Given the description of an element on the screen output the (x, y) to click on. 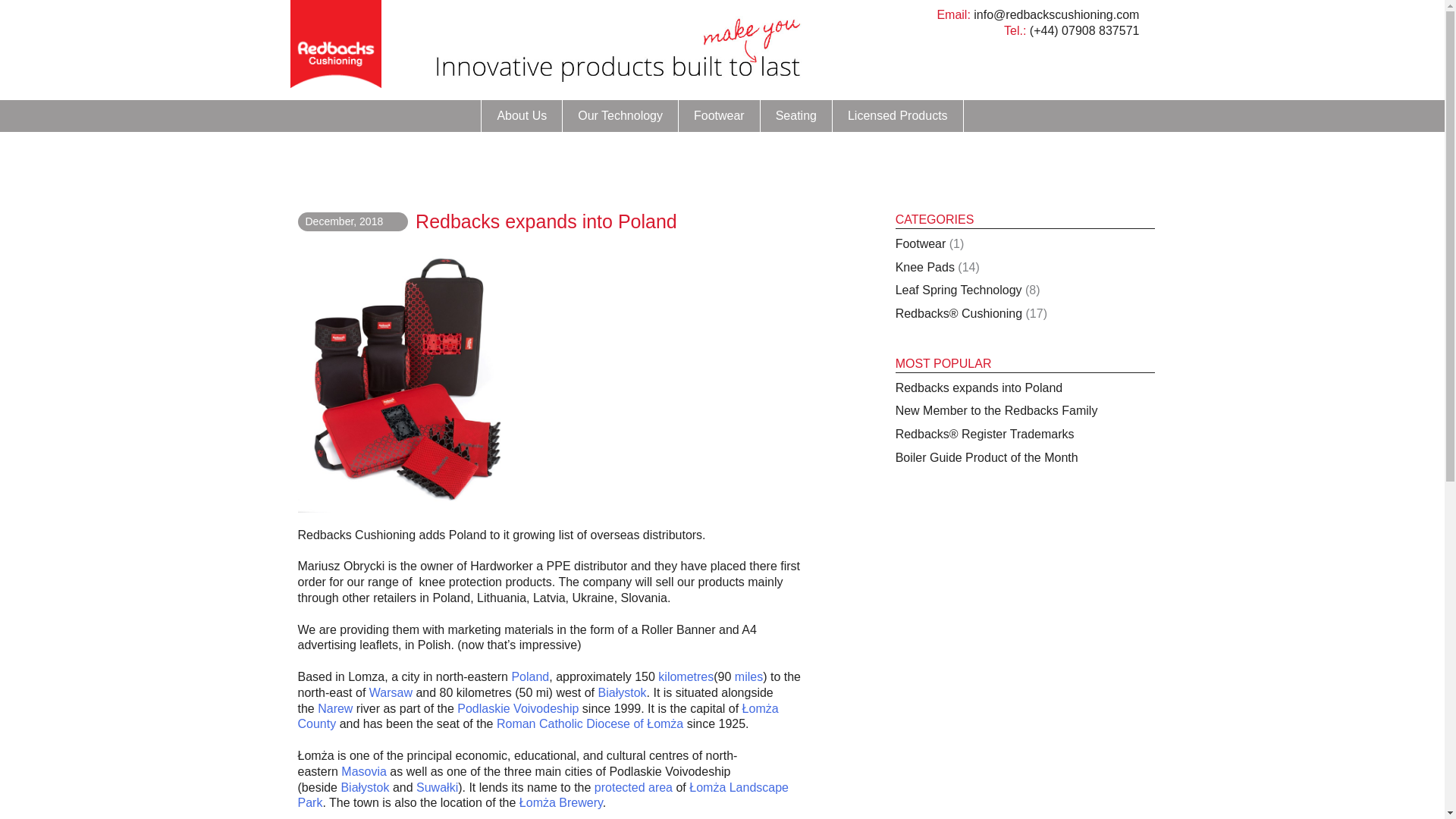
Poland (529, 676)
Footwear (719, 115)
Mile (748, 676)
Masovia (363, 771)
12:38 PM (343, 221)
Narew (334, 707)
Seating (795, 115)
07908 837571 (1099, 30)
kilometres (685, 676)
Warsaw (390, 692)
